Given the description of an element on the screen output the (x, y) to click on. 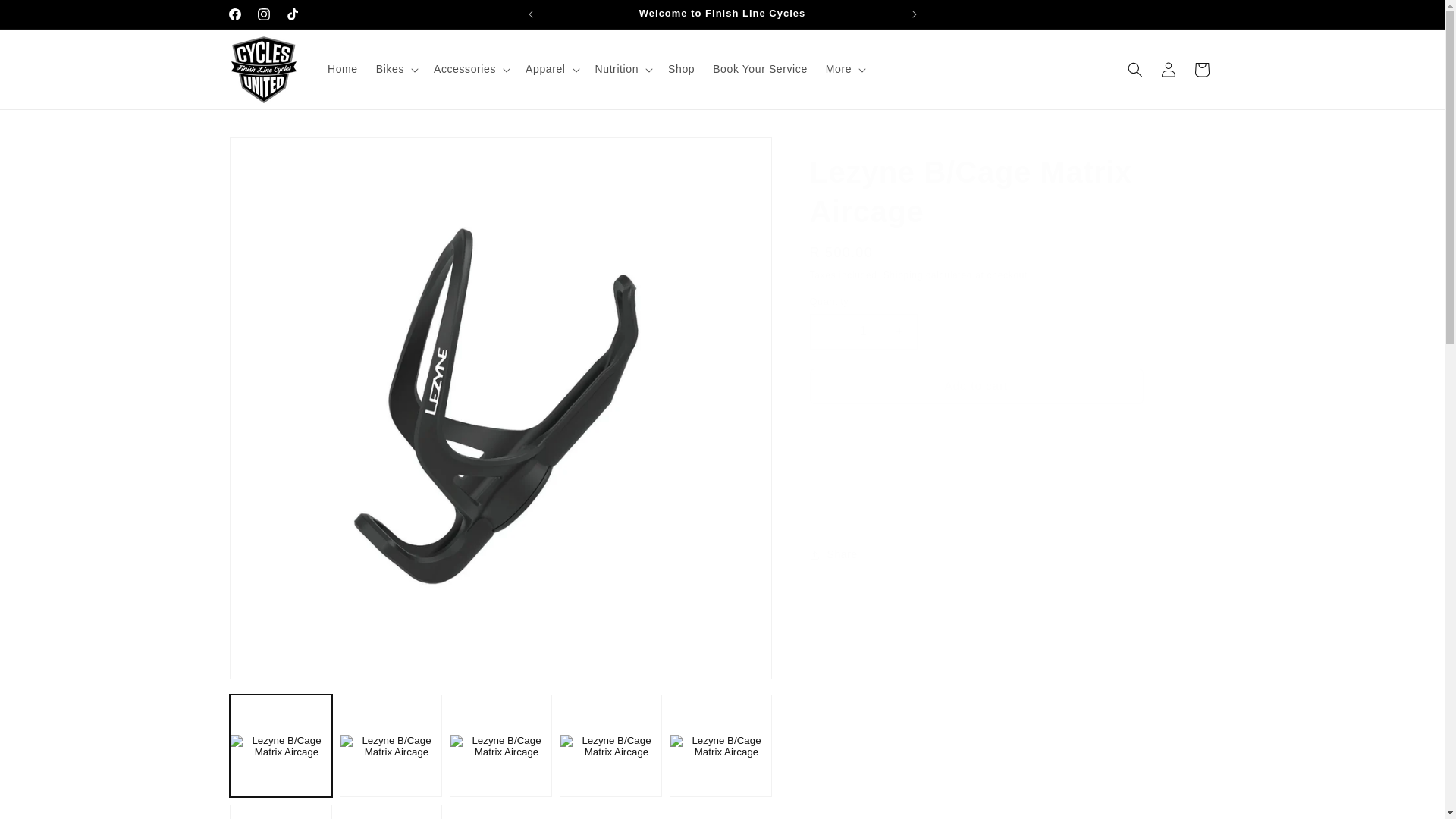
Instagram (263, 14)
Skip to content (45, 17)
1 (863, 331)
TikTok (291, 14)
Facebook (233, 14)
